Given the description of an element on the screen output the (x, y) to click on. 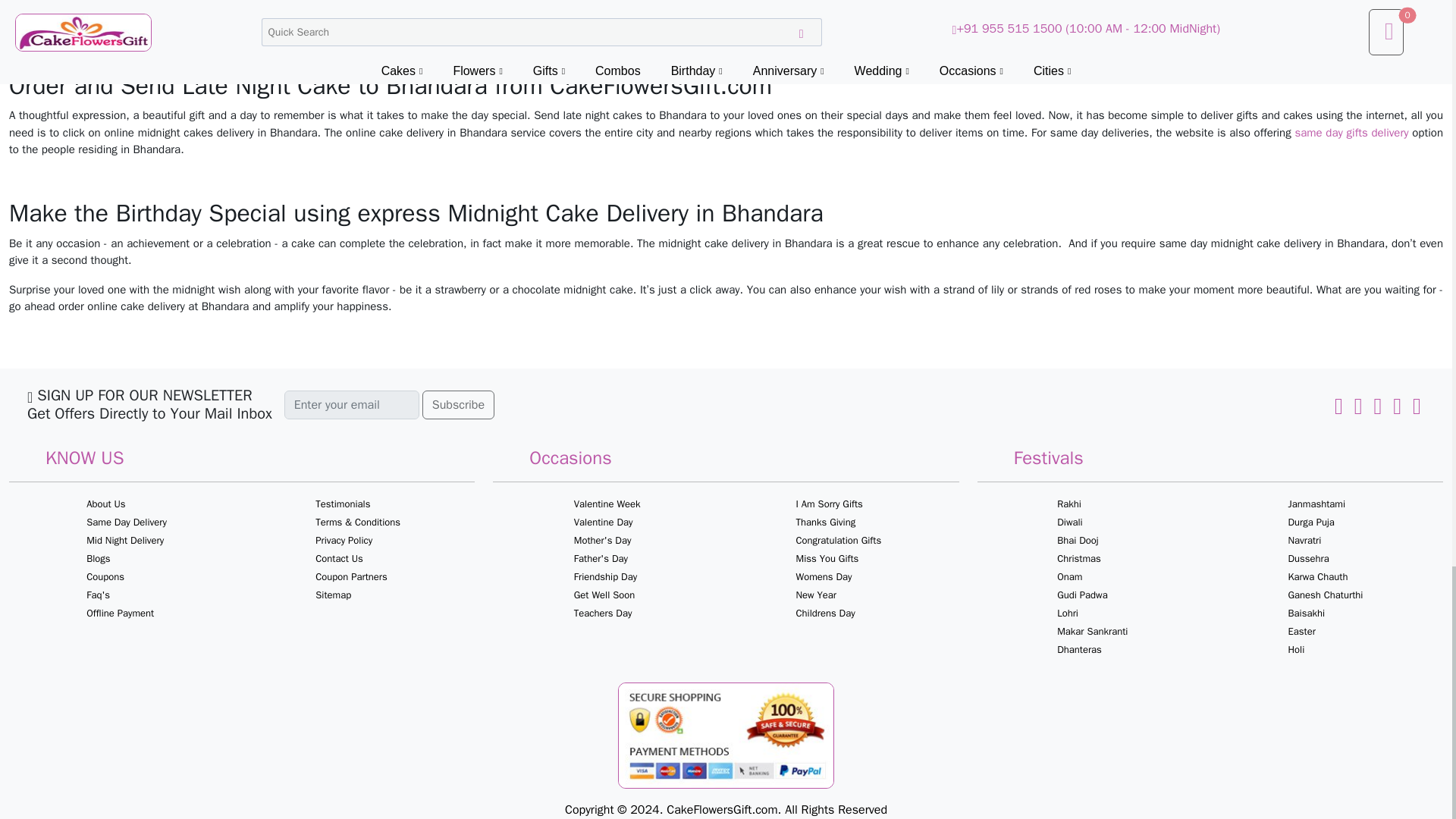
Subscribe (458, 404)
